Given the description of an element on the screen output the (x, y) to click on. 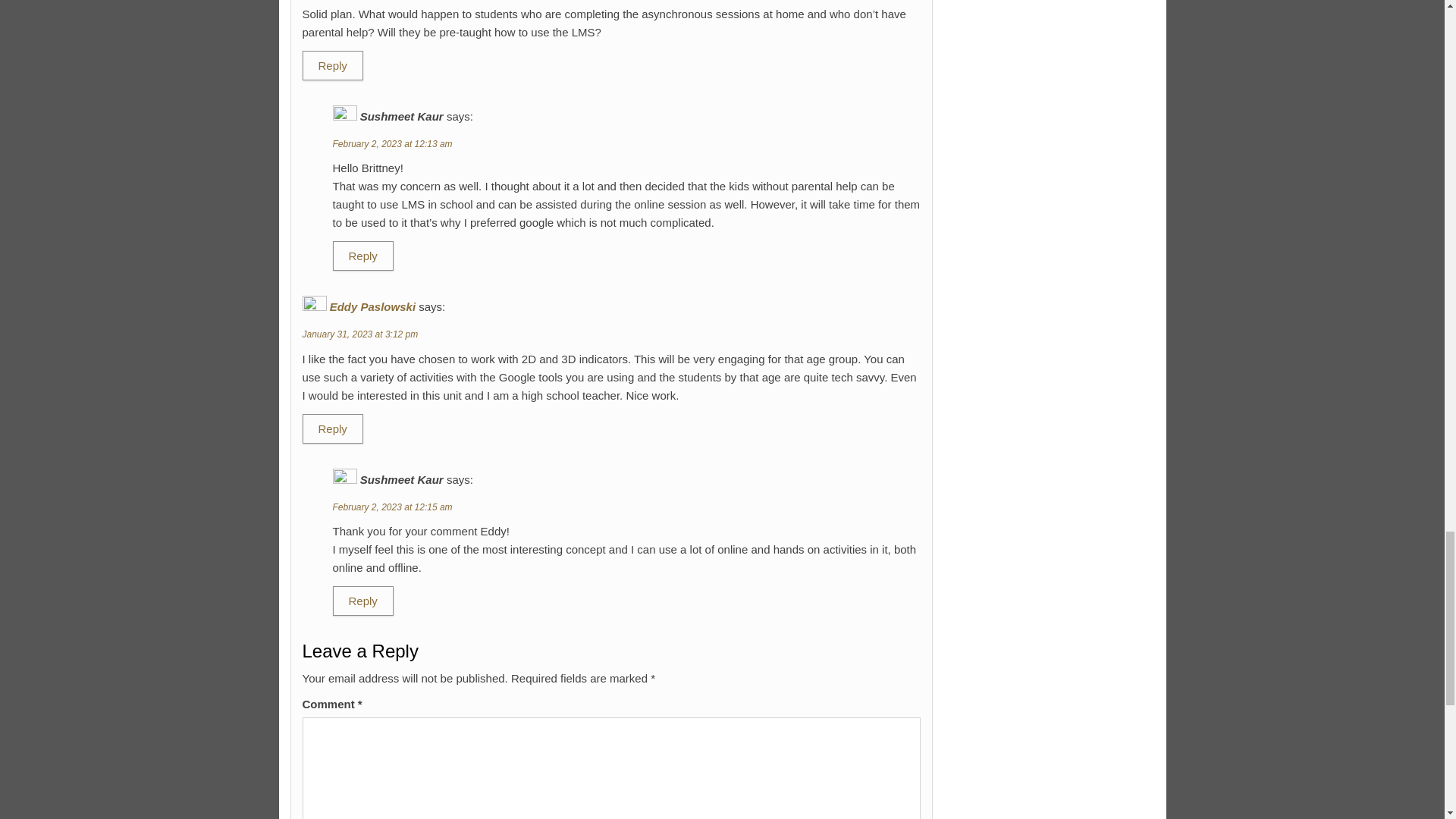
Eddy Paslowski (372, 306)
Reply (331, 428)
January 31, 2023 at 3:12 pm (359, 334)
February 2, 2023 at 12:15 am (391, 507)
Reply (362, 255)
February 2, 2023 at 12:13 am (391, 143)
Reply (362, 600)
Reply (331, 65)
